Given the description of an element on the screen output the (x, y) to click on. 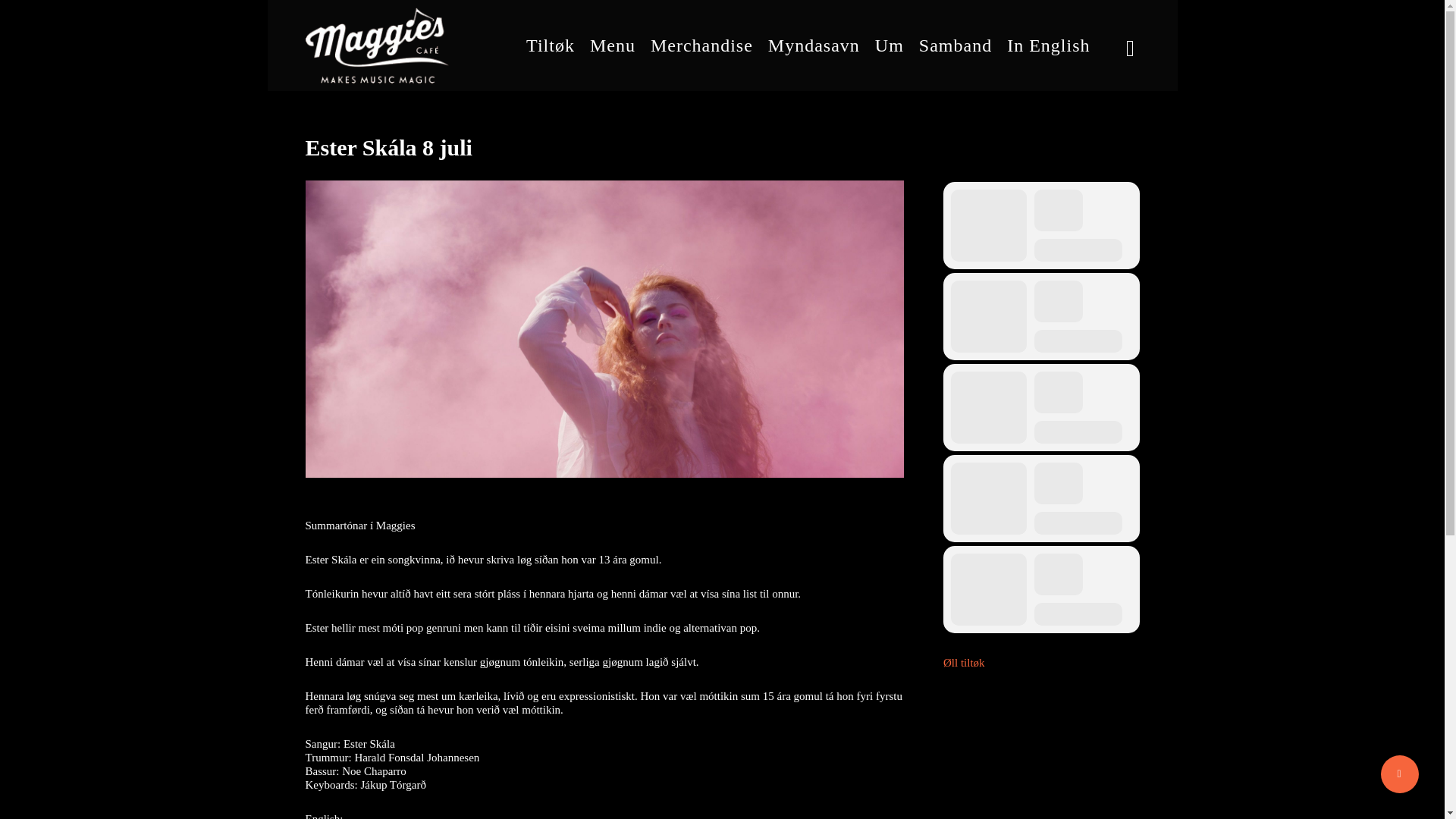
Samband (954, 45)
In English (1047, 45)
Menu (612, 45)
Myndasavn (813, 45)
Merchandise (701, 45)
Um (889, 45)
